Given the description of an element on the screen output the (x, y) to click on. 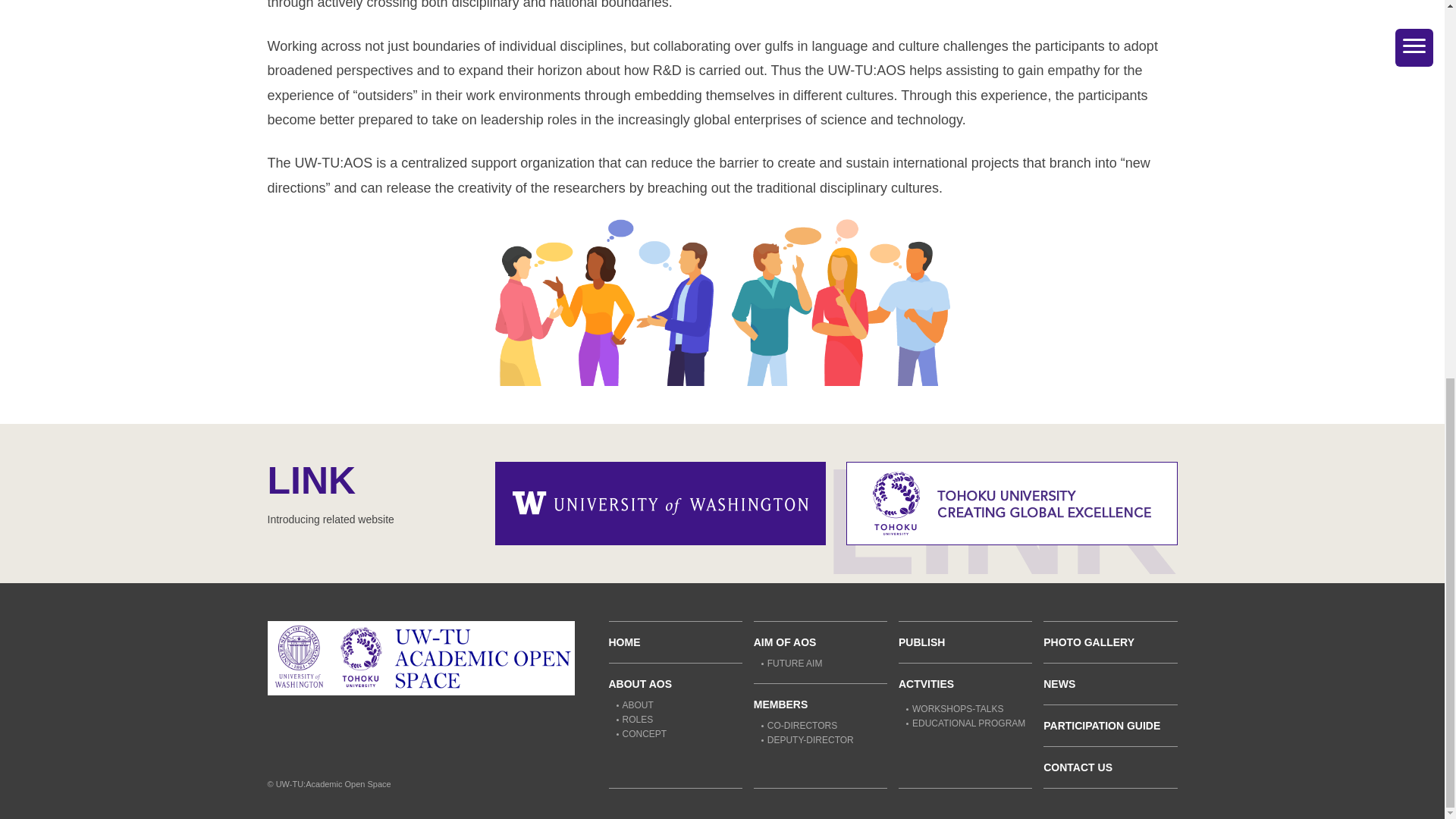
MEMBERS (781, 704)
DEPUTY-DIRECTOR (807, 739)
PUBLISH (921, 642)
PHOTO GALLERY (1088, 642)
ACTVITIES (925, 684)
AIM OF AOS (785, 642)
EDUCATIONAL PROGRAM (965, 723)
FUTURE AIM (791, 663)
NEWS (1059, 684)
ABOUT (633, 705)
WORKSHOPS-TALKS (954, 708)
ROLES (633, 719)
CO-DIRECTORS (799, 725)
ABOUT AOS (639, 684)
HOME (624, 642)
